Given the description of an element on the screen output the (x, y) to click on. 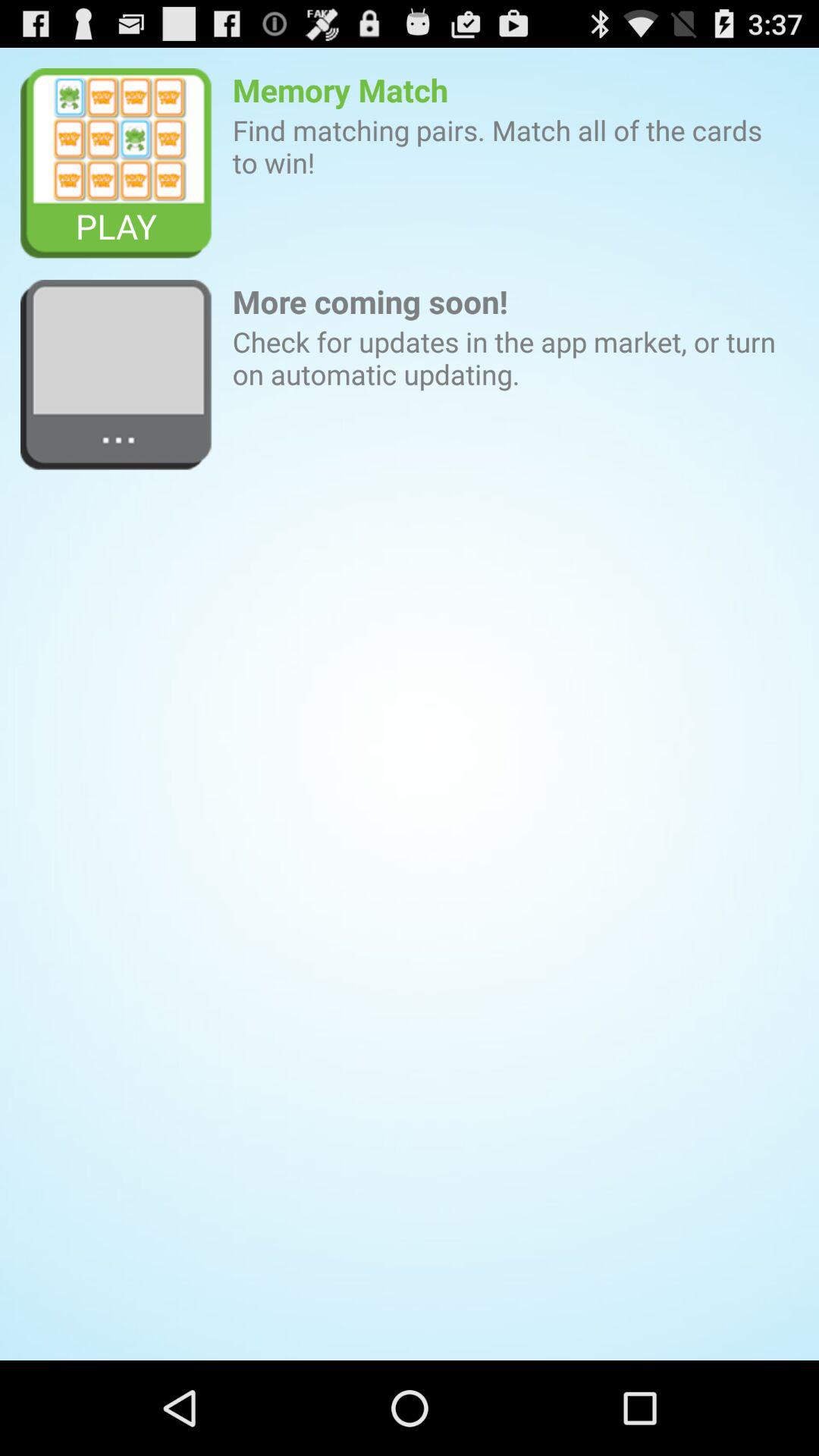
click the item to the left of the memory match icon (116, 163)
